Given the description of an element on the screen output the (x, y) to click on. 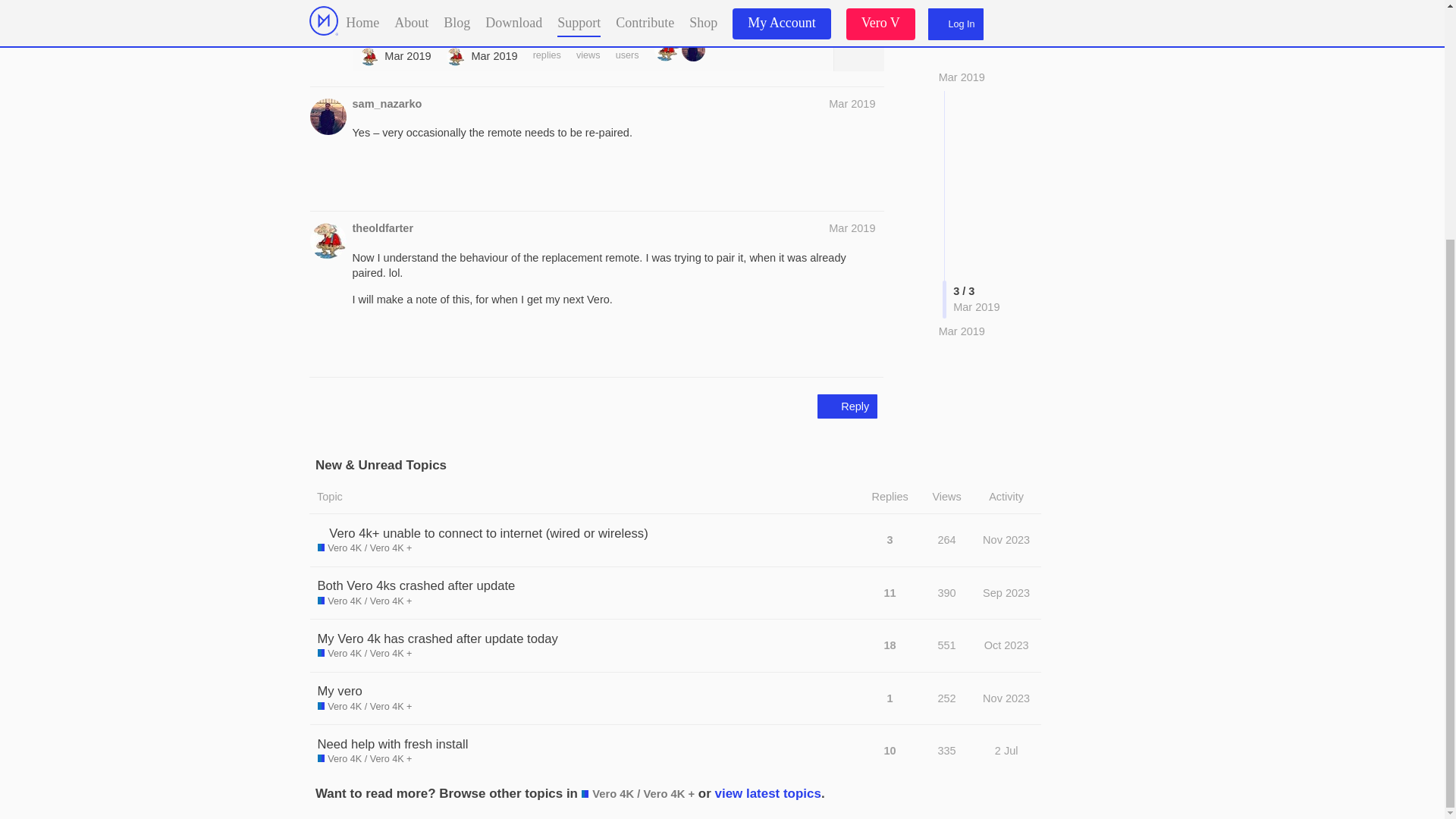
27 Mar 2019 02:56 (407, 55)
like this post (837, 5)
27 Mar 2019 04:00 (962, 147)
Trevor Adair (455, 56)
Trevor Adair (368, 56)
2 (667, 49)
copy a link to this post to clipboard (869, 5)
expand topic details (857, 49)
last reply (482, 38)
Mar 2019 (962, 147)
